Given the description of an element on the screen output the (x, y) to click on. 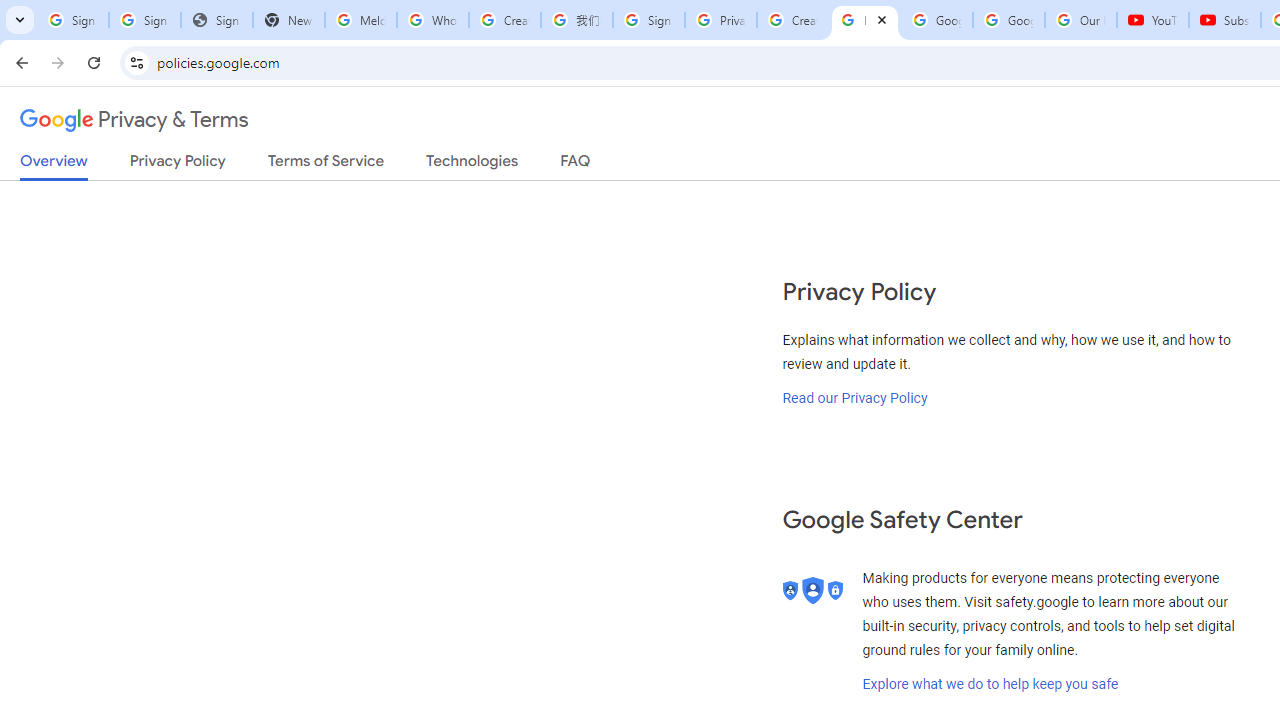
New Tab (289, 20)
